Given the description of an element on the screen output the (x, y) to click on. 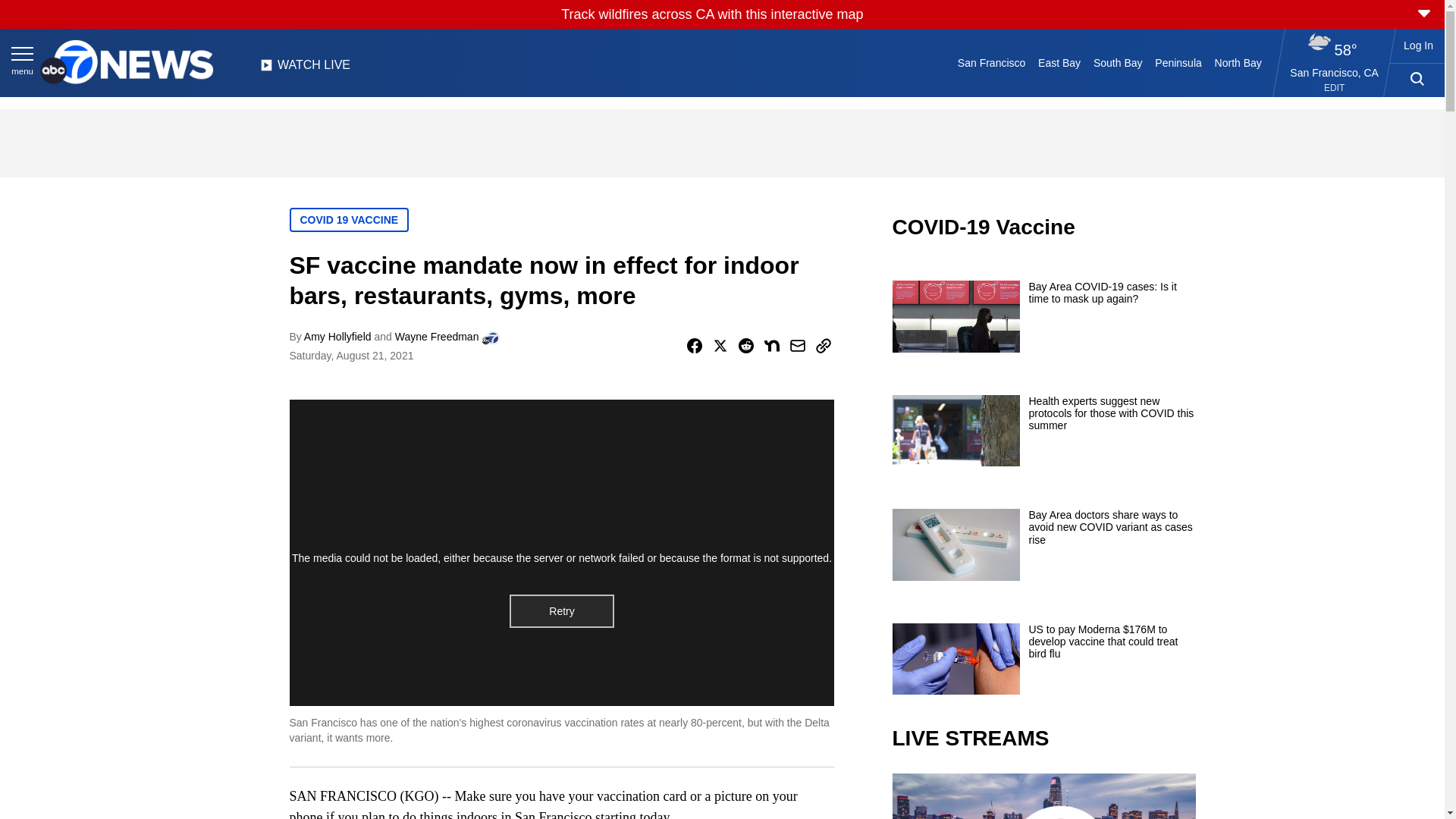
EDIT (1333, 87)
South Bay (1117, 62)
WATCH LIVE (305, 69)
San Francisco, CA (1334, 72)
East Bay (1059, 62)
Peninsula (1178, 62)
San Francisco (990, 62)
North Bay (1238, 62)
